Given the description of an element on the screen output the (x, y) to click on. 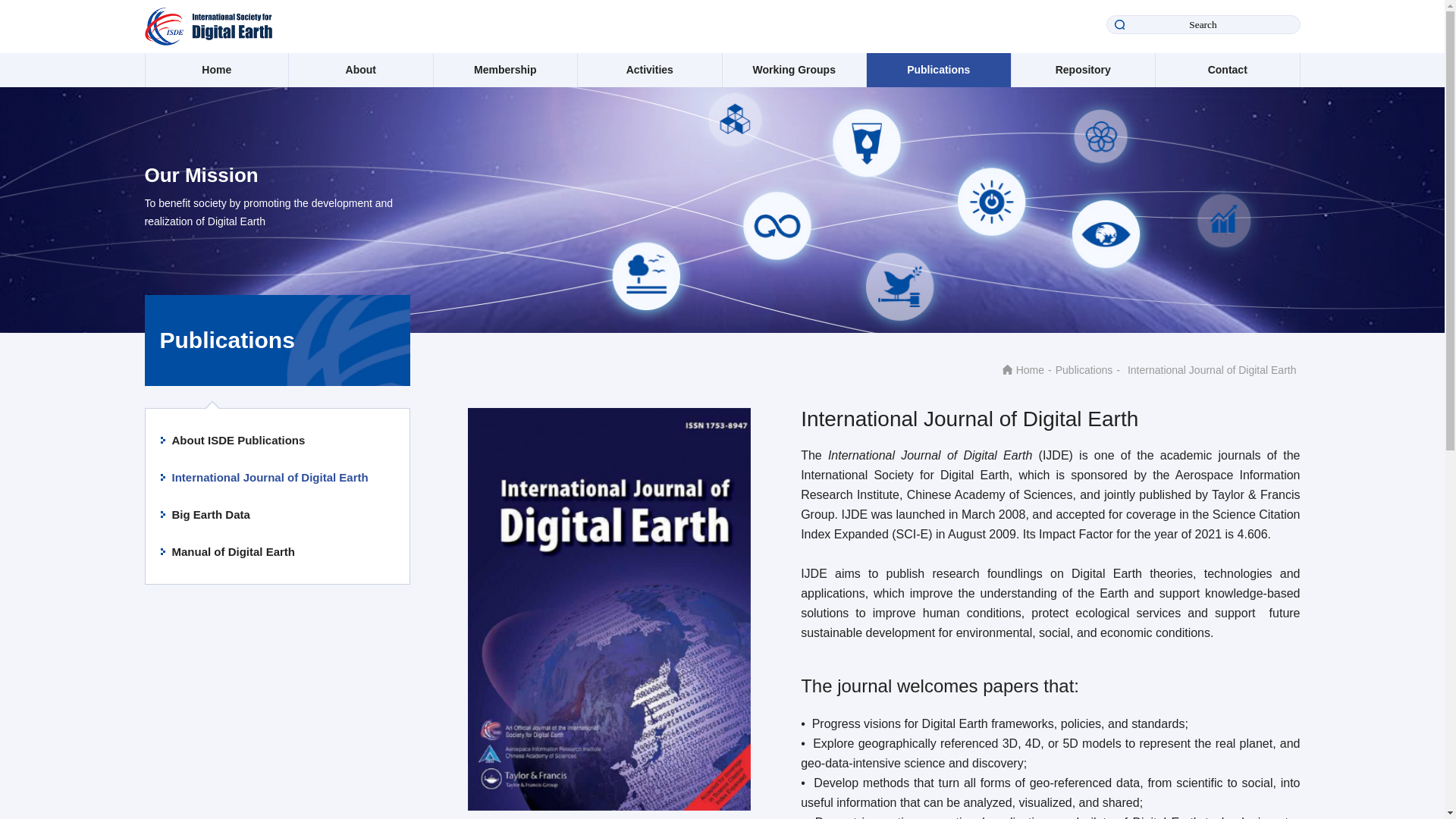
About (360, 69)
Publications (938, 69)
Activities (649, 69)
Working Groups (793, 69)
Home (216, 69)
Membership (504, 69)
